Given the description of an element on the screen output the (x, y) to click on. 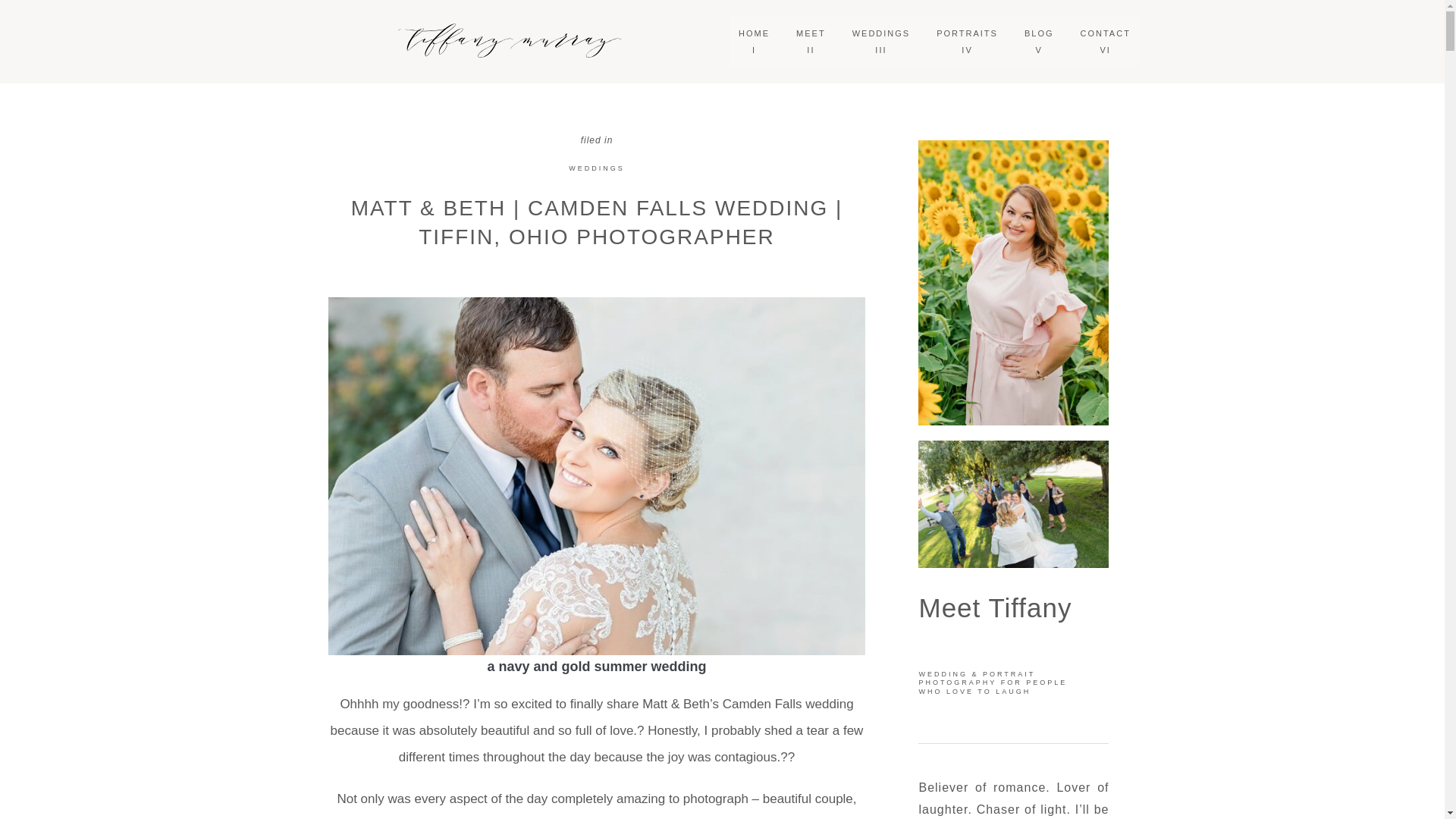
WEDDINGS (1105, 41)
